Given the description of an element on the screen output the (x, y) to click on. 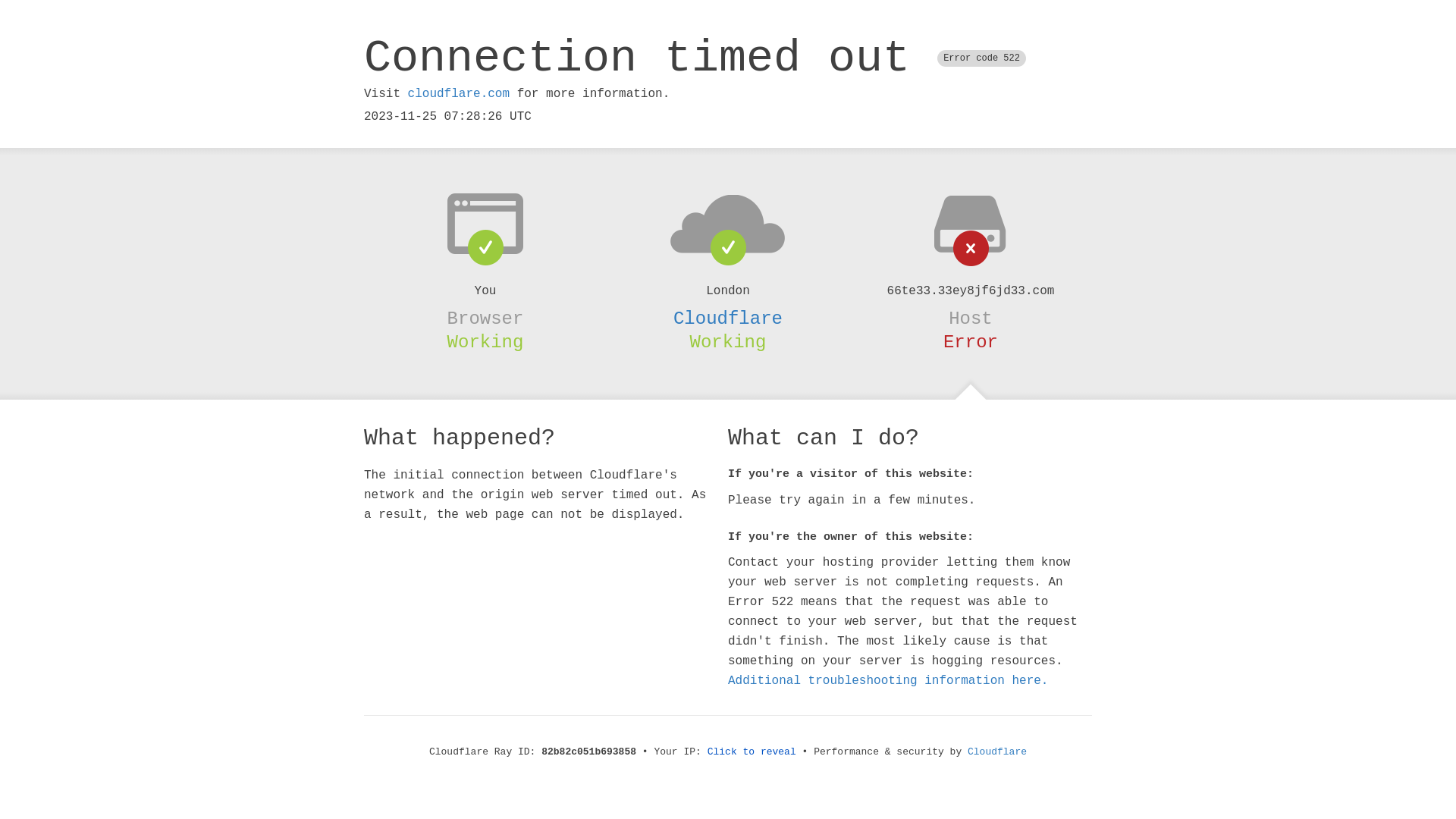
cloudflare.com Element type: text (458, 93)
Additional troubleshooting information here. Element type: text (888, 680)
Cloudflare Element type: text (996, 751)
Cloudflare Element type: text (727, 318)
Click to reveal Element type: text (751, 751)
